Given the description of an element on the screen output the (x, y) to click on. 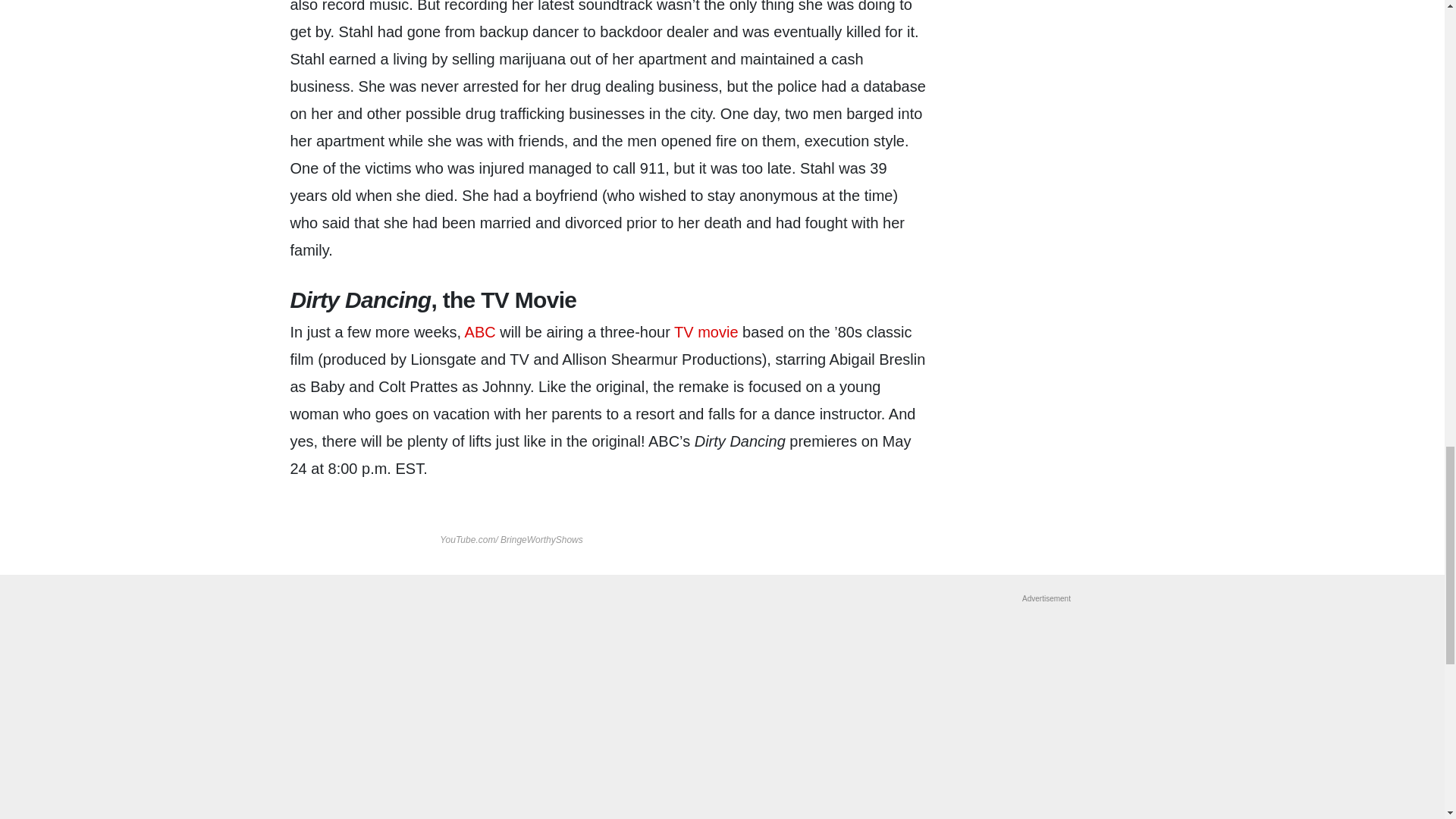
TV movie (706, 331)
ABC (480, 331)
